Given the description of an element on the screen output the (x, y) to click on. 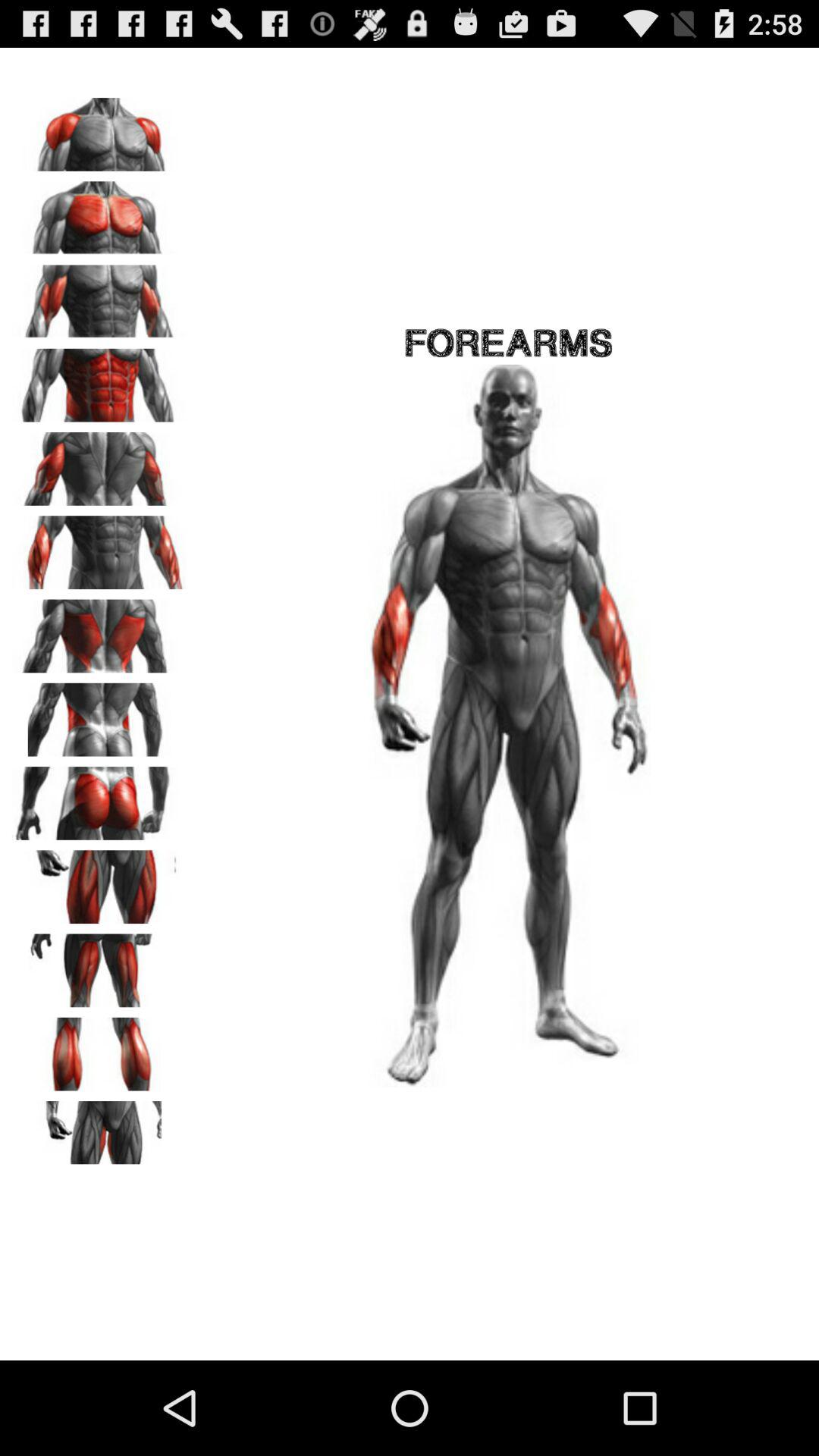
view thigh workouts (99, 965)
